Given the description of an element on the screen output the (x, y) to click on. 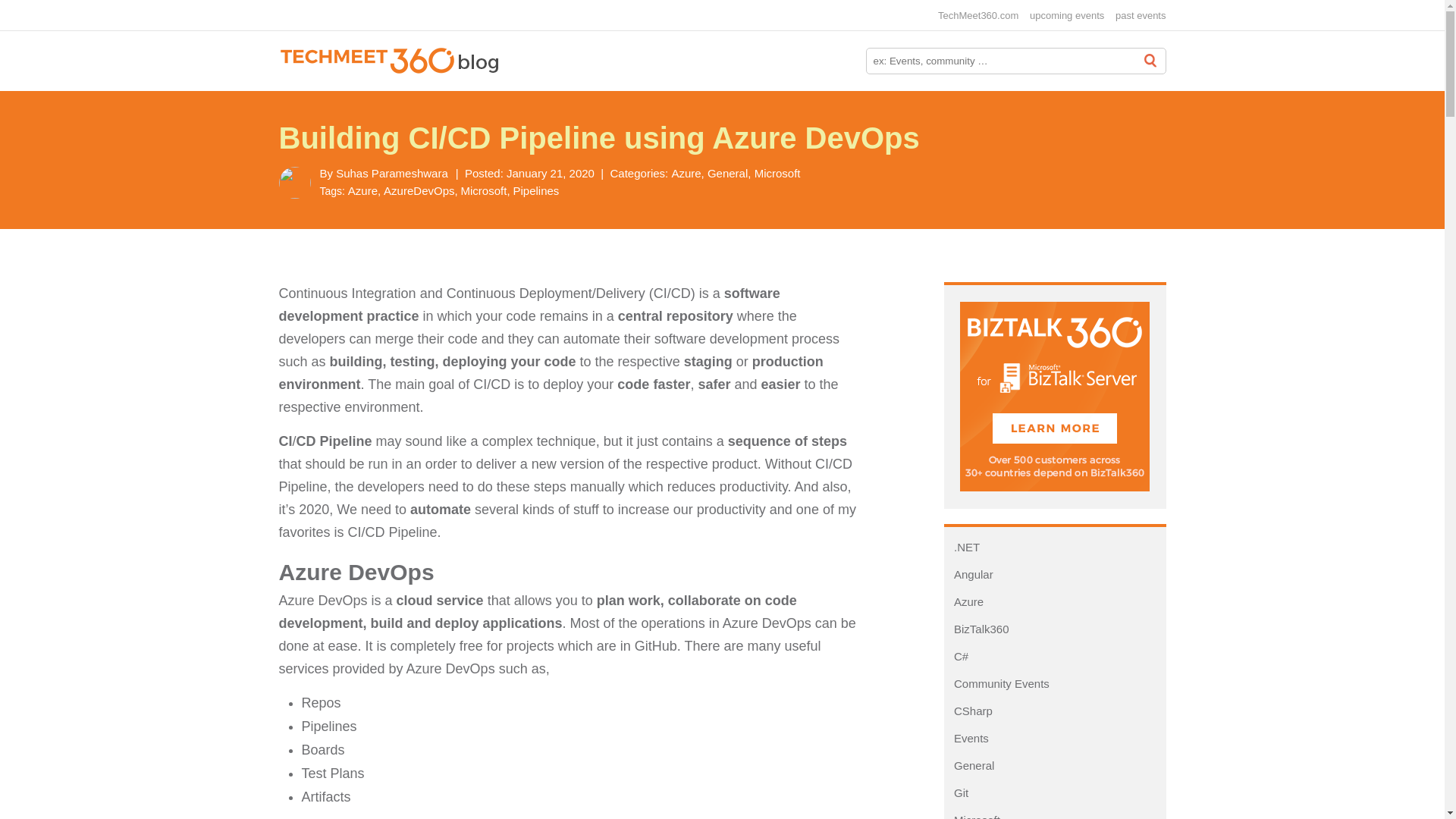
Microsoft (777, 173)
Events (967, 738)
Azure (687, 173)
Microsoft (486, 190)
General (729, 173)
BizTalk360 (977, 628)
Search for: (1016, 60)
General (970, 765)
Microsoft (973, 816)
upcoming events (1066, 15)
